Given the description of an element on the screen output the (x, y) to click on. 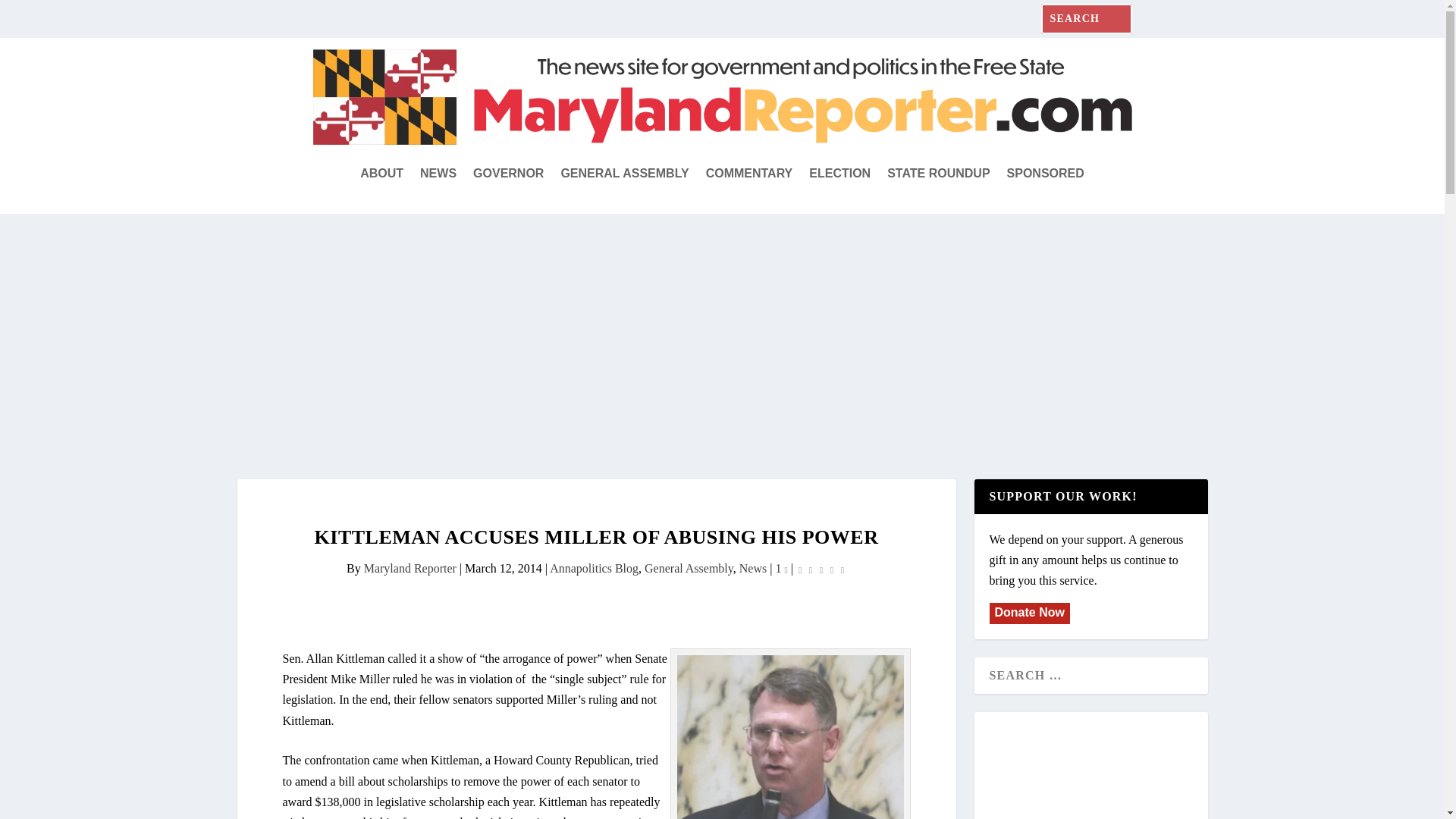
Annapolitics Blog (594, 567)
General Assembly (689, 567)
Rating: 0.00 (820, 568)
Search (34, 14)
Posts by Maryland Reporter (410, 567)
STATE ROUNDUP (938, 173)
GENERAL ASSEMBLY (624, 173)
Maryland Reporter (410, 567)
News (753, 567)
GOVERNOR (508, 173)
